Given the description of an element on the screen output the (x, y) to click on. 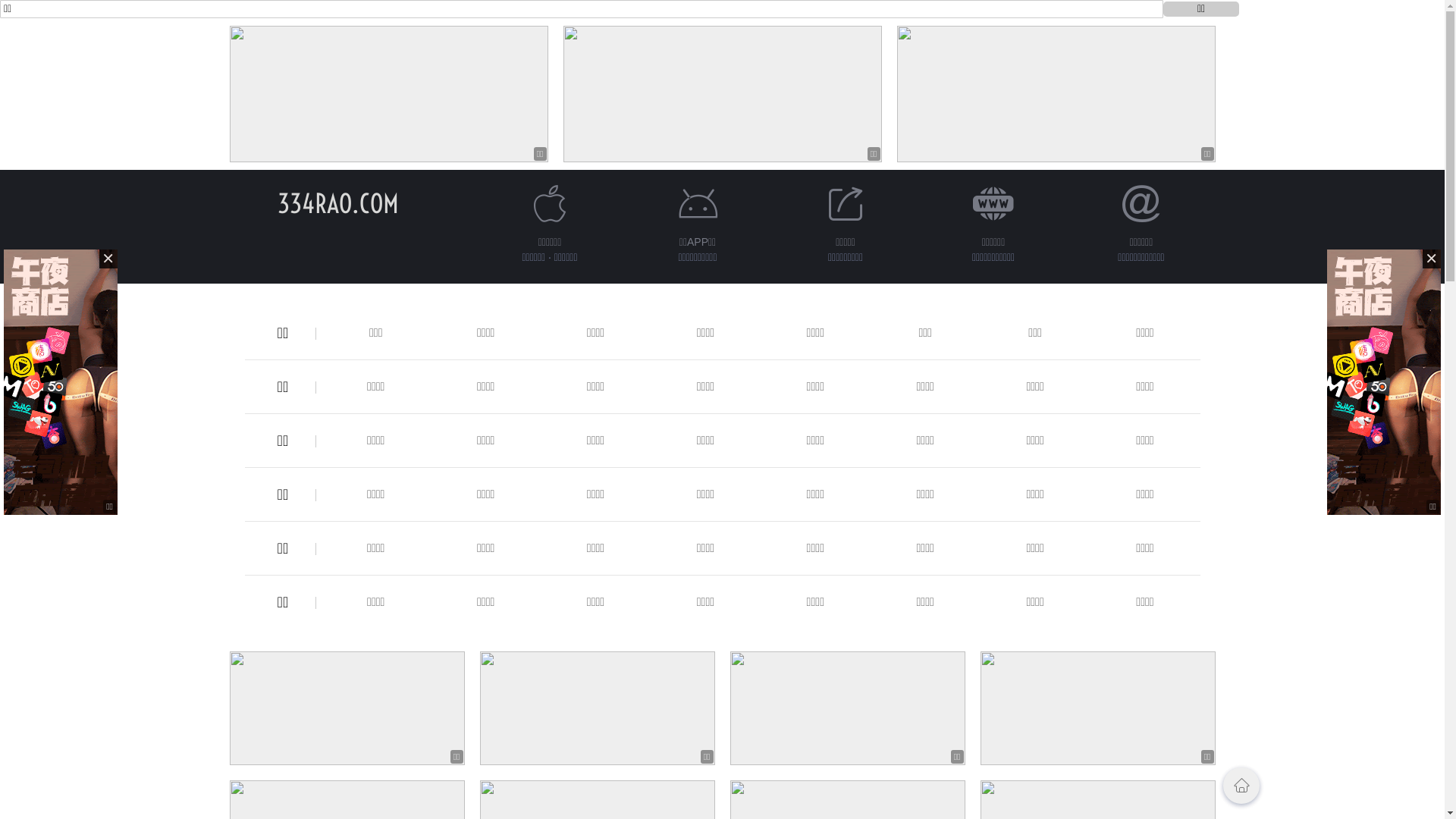
334RAO.COM Element type: text (337, 203)
